Given the description of an element on the screen output the (x, y) to click on. 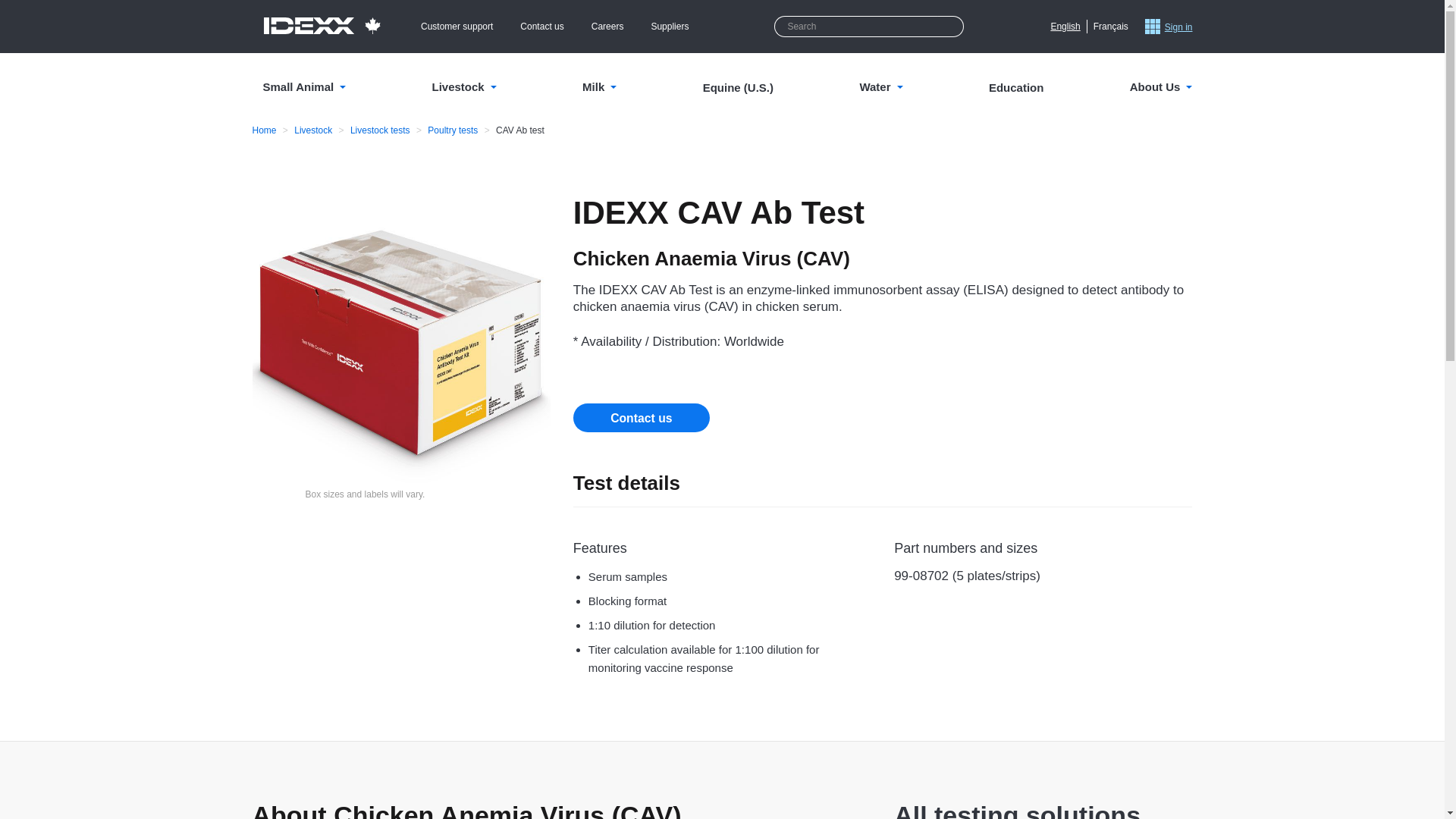
IDEXX (321, 25)
Search (950, 25)
Customer support (456, 26)
Contact us (541, 26)
Suppliers (669, 26)
Change to language: English (1064, 26)
